Given the description of an element on the screen output the (x, y) to click on. 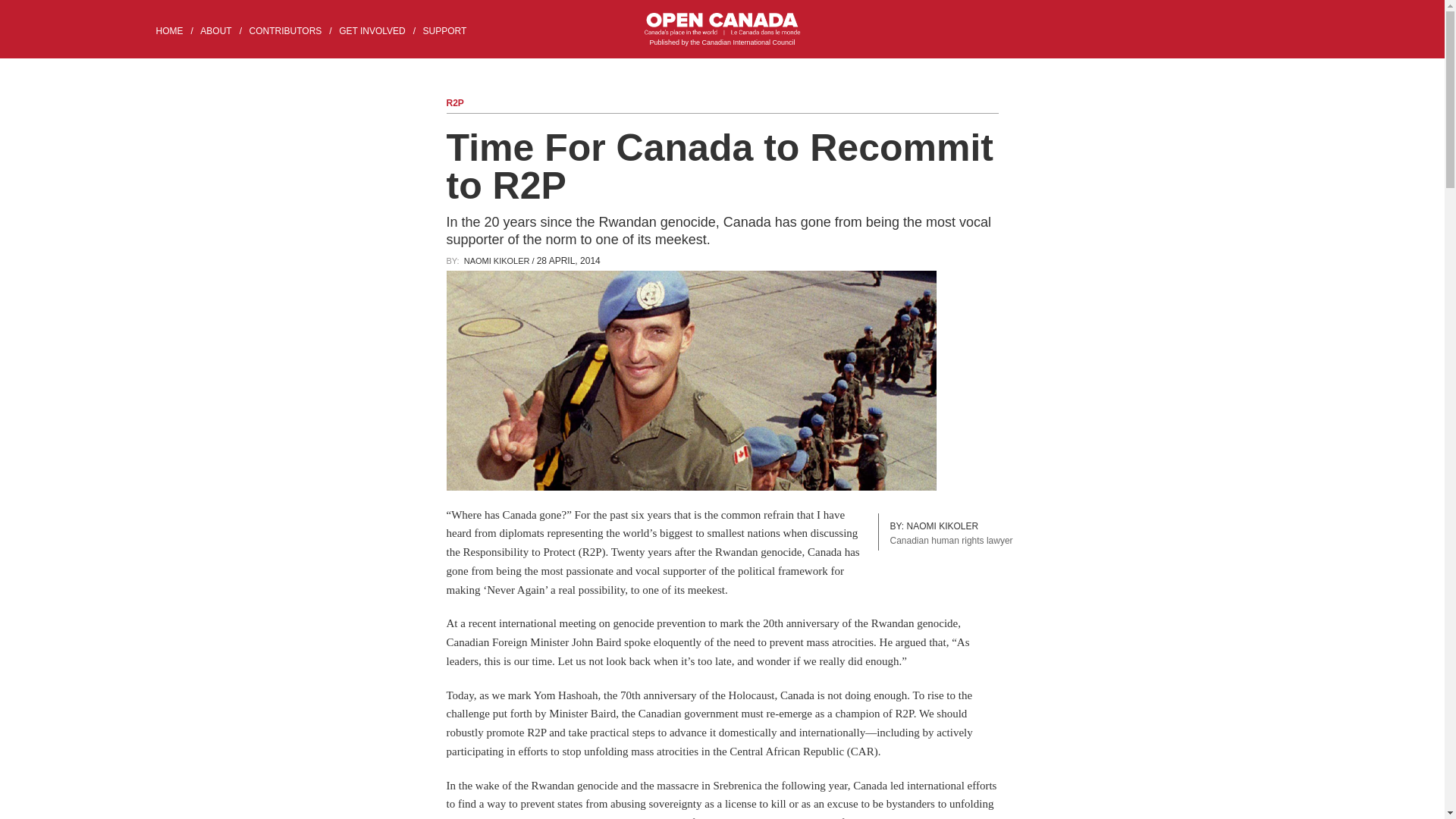
R2P (454, 102)
ABOUT (223, 30)
SUPPORT (451, 30)
Published by the Canadian International Council (722, 30)
CONTRIBUTORS (292, 30)
HOME (175, 30)
GET INVOLVED (379, 30)
NAOMI KIKOLER (496, 260)
